Given the description of an element on the screen output the (x, y) to click on. 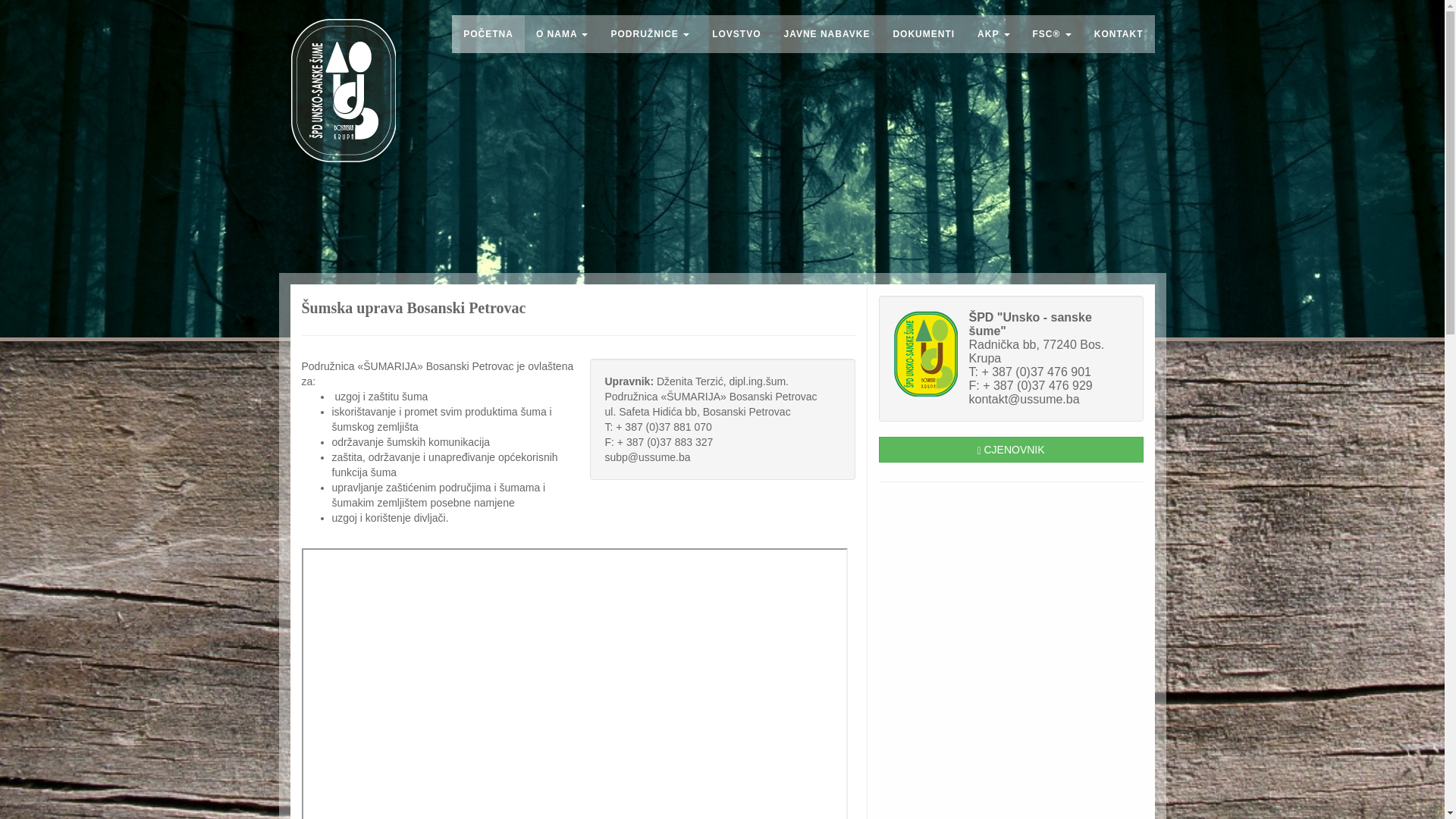
LOVSTVO Element type: text (735, 34)
JAVNE NABAVKE Element type: text (826, 34)
DOKUMENTI Element type: text (923, 34)
O NAMA Element type: text (561, 34)
KONTAKT Element type: text (1118, 34)
CJENOVNIK Element type: text (1010, 449)
AKP Element type: text (993, 34)
